Given the description of an element on the screen output the (x, y) to click on. 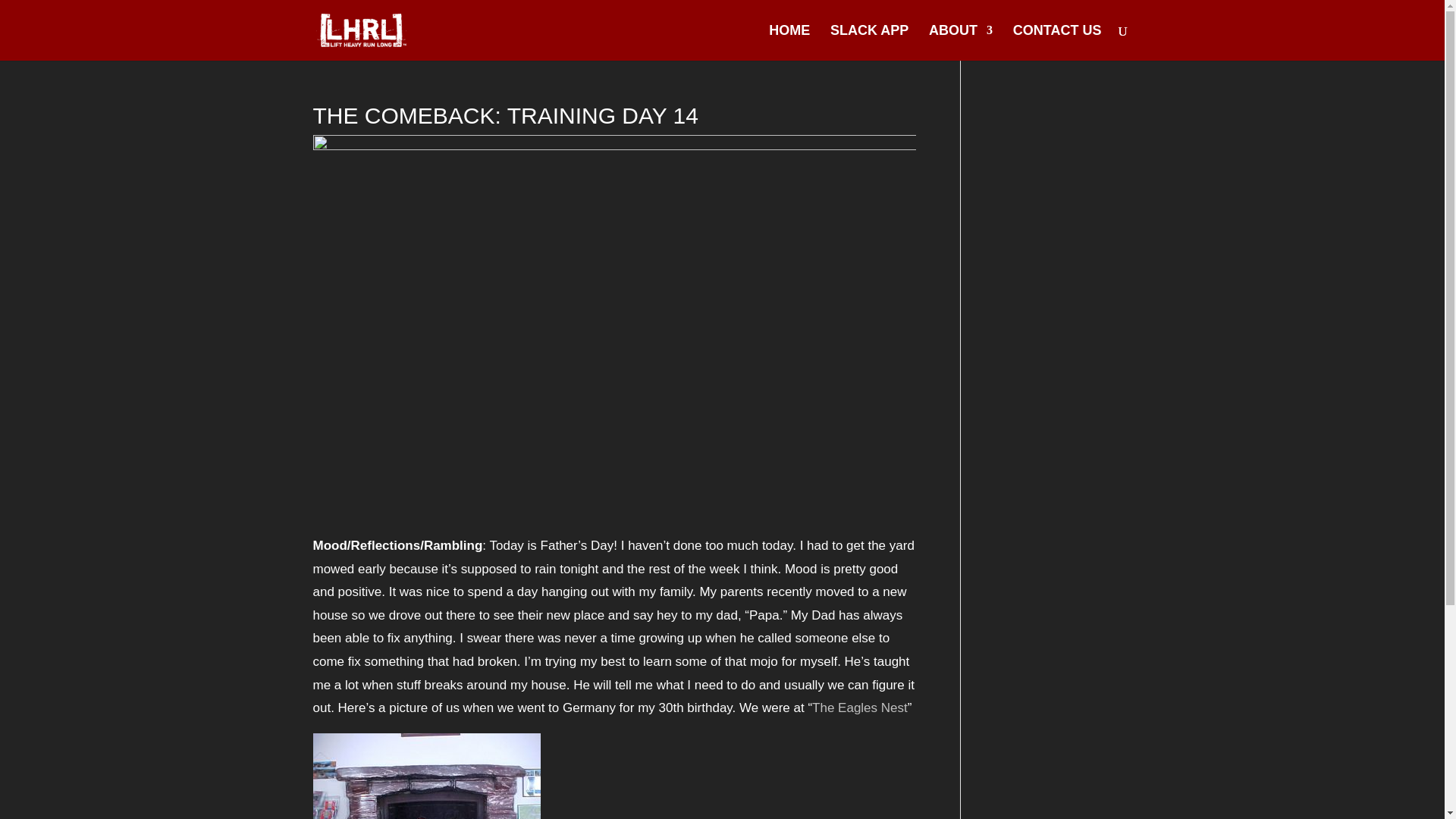
The Eagles Nest (859, 707)
ABOUT (960, 42)
CONTACT US (1057, 42)
HOME (788, 42)
SLACK APP (868, 42)
